Given the description of an element on the screen output the (x, y) to click on. 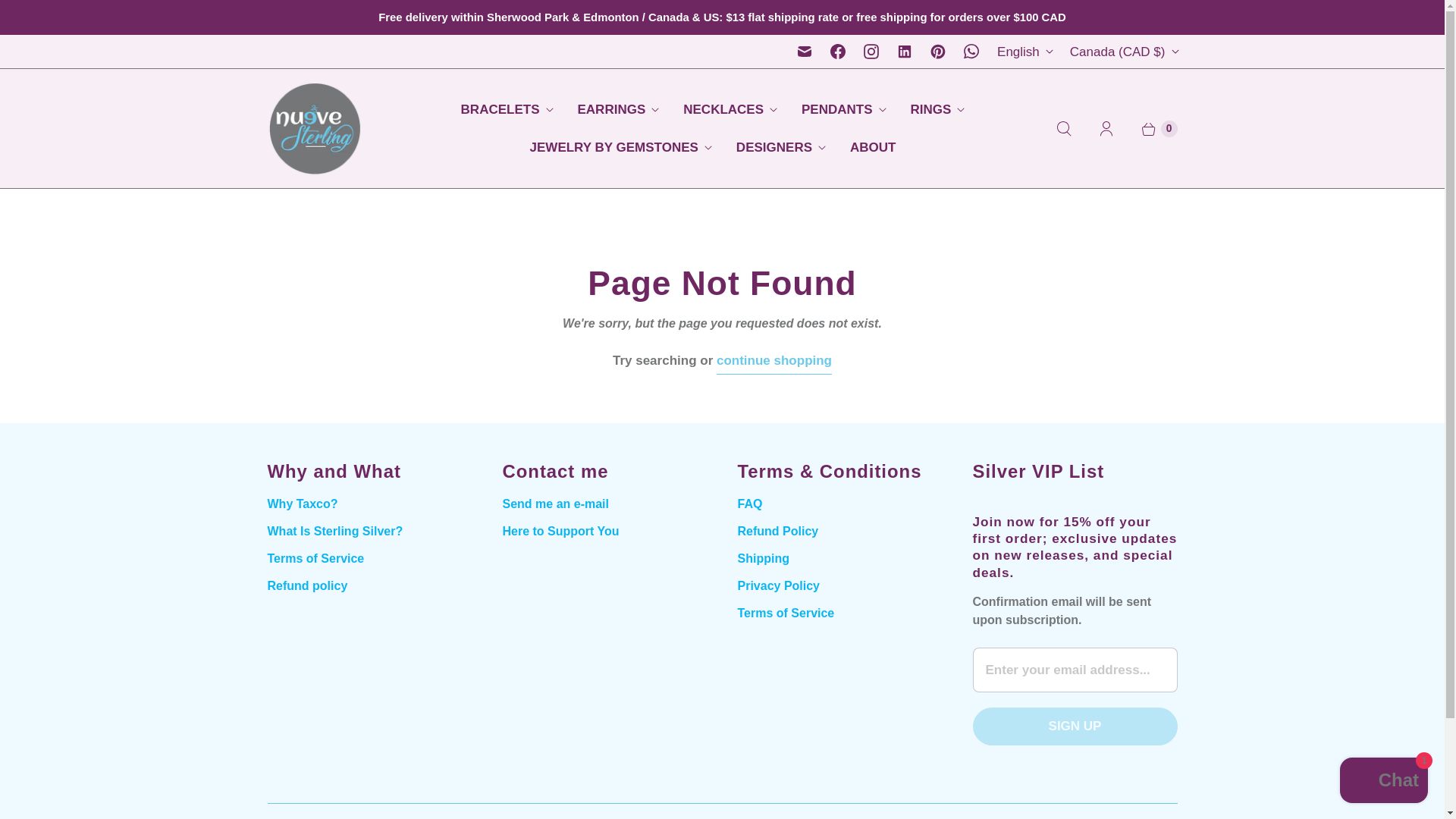
Shopify online store chat (1383, 781)
Sign Up (1074, 726)
English (1024, 52)
